Given the description of an element on the screen output the (x, y) to click on. 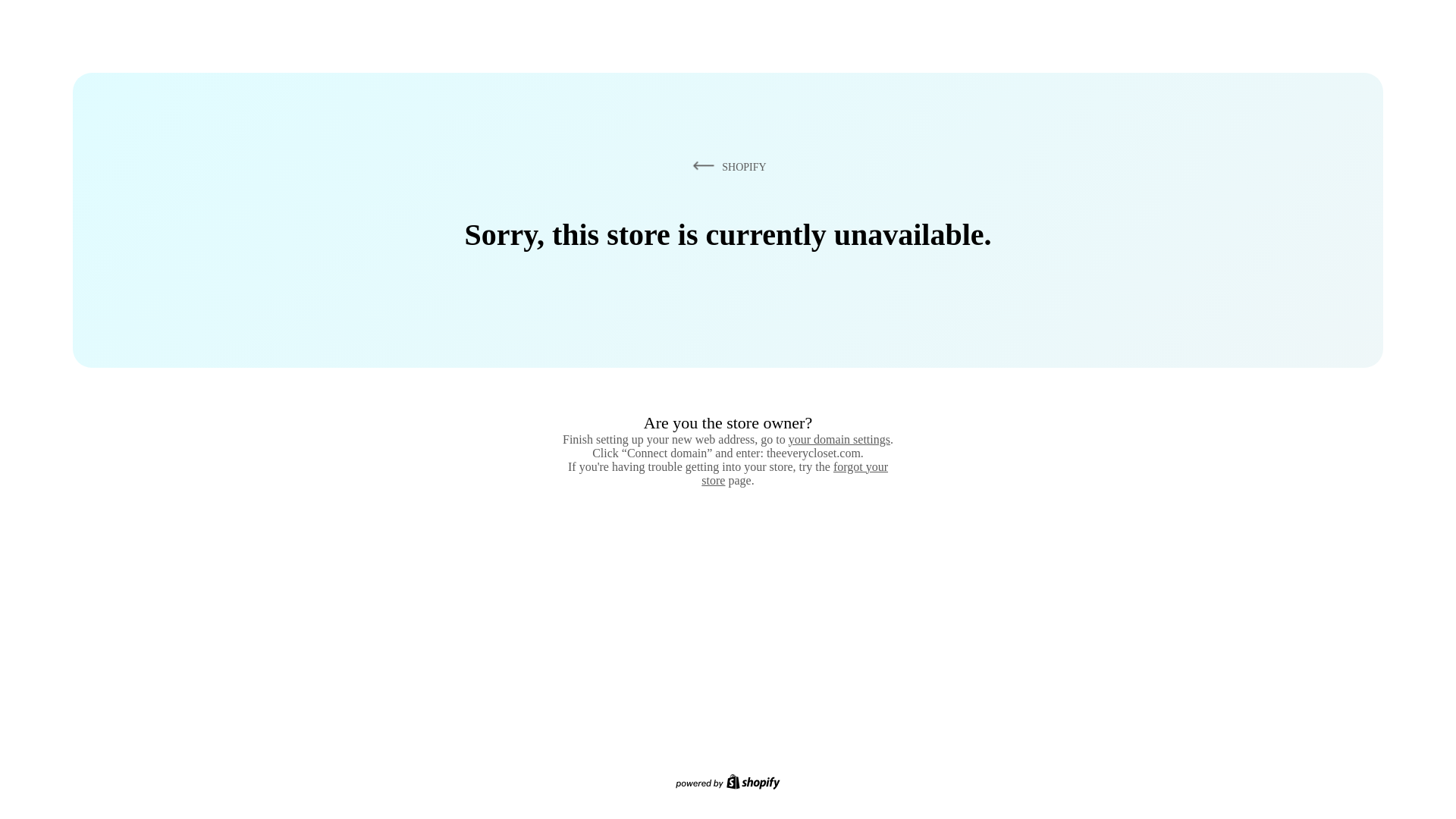
SHOPIFY (726, 166)
your domain settings (839, 439)
forgot your store (794, 473)
